Given the description of an element on the screen output the (x, y) to click on. 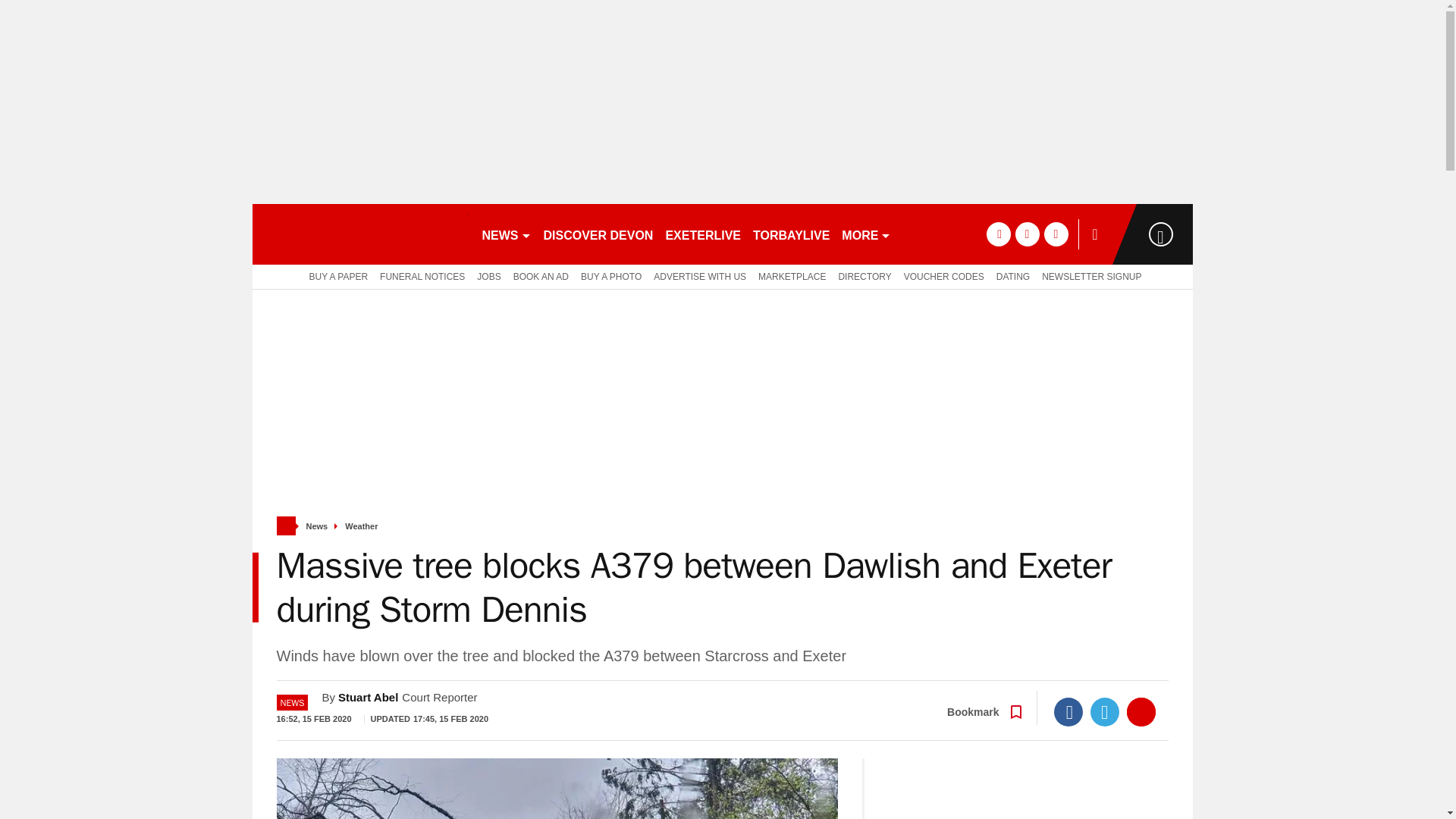
twitter (1026, 233)
Twitter (1104, 711)
DISCOVER DEVON (598, 233)
instagram (1055, 233)
MORE (865, 233)
facebook (997, 233)
EXETERLIVE (702, 233)
devonlive (359, 233)
Facebook (1068, 711)
NEWS (506, 233)
TORBAYLIVE (790, 233)
